Given the description of an element on the screen output the (x, y) to click on. 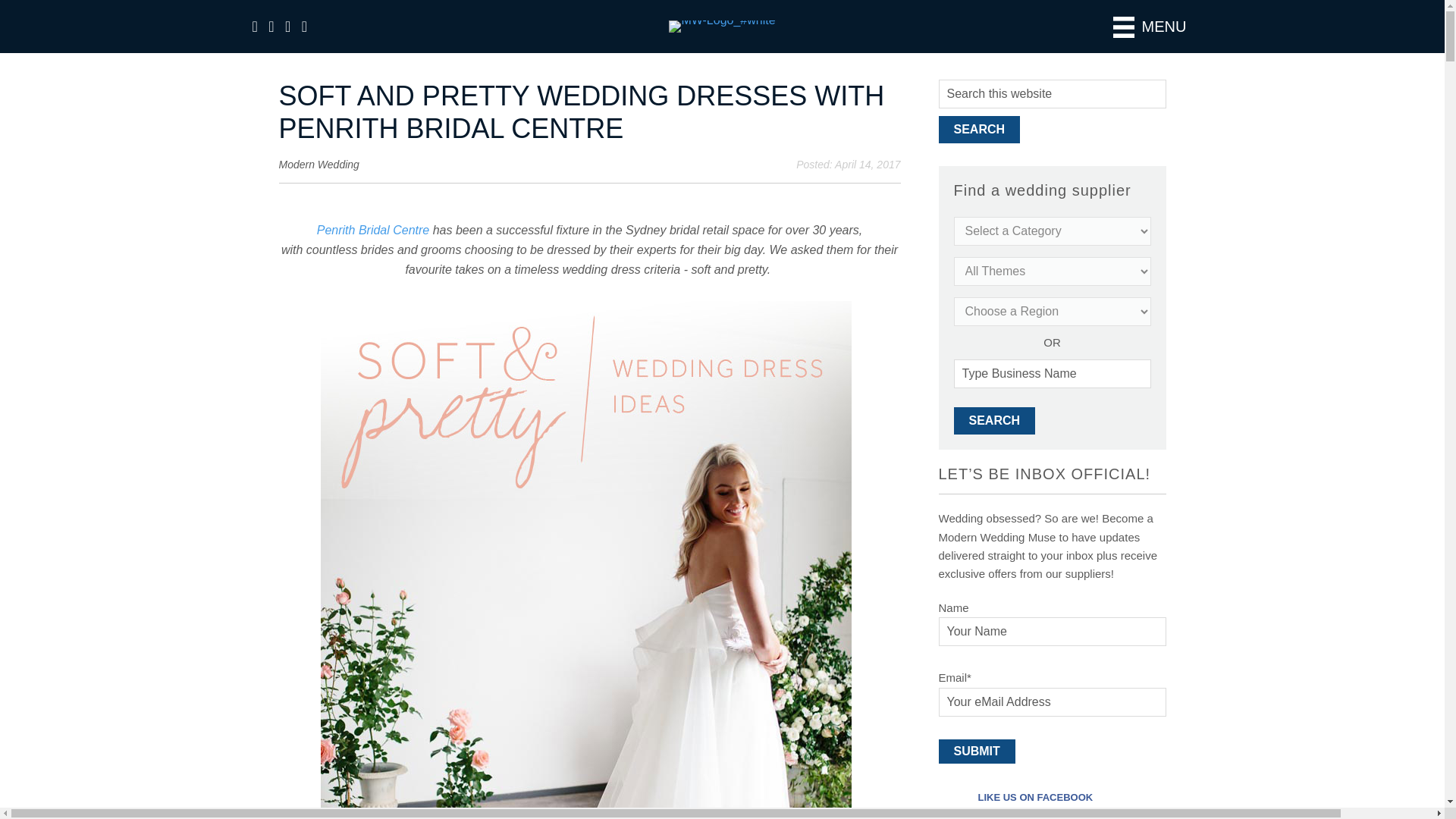
Search (979, 129)
Submit (976, 751)
SEARCH (994, 420)
Search (979, 129)
